Given the description of an element on the screen output the (x, y) to click on. 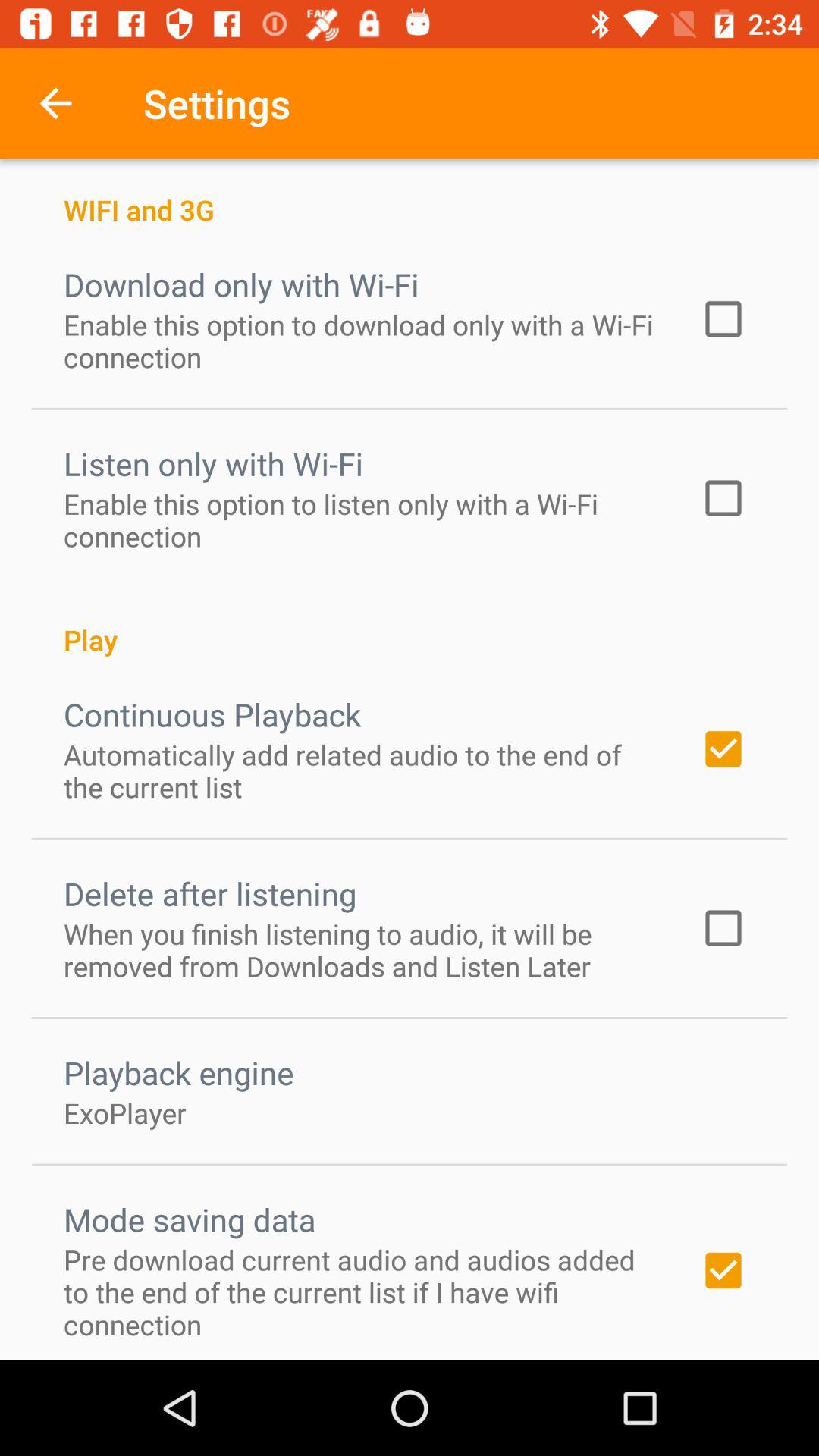
click automatically add related (361, 770)
